Given the description of an element on the screen output the (x, y) to click on. 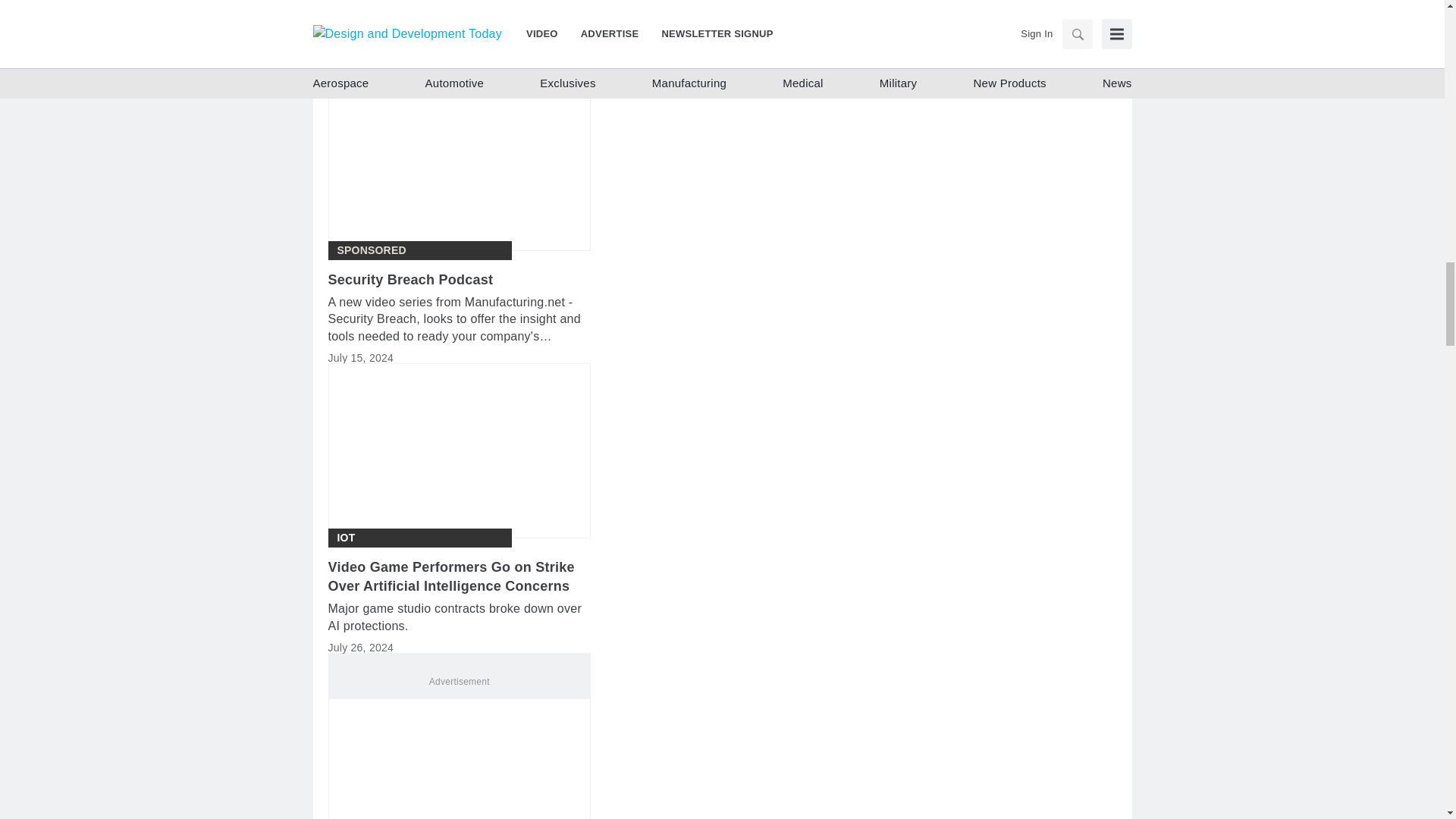
Sponsored (371, 250)
